Given the description of an element on the screen output the (x, y) to click on. 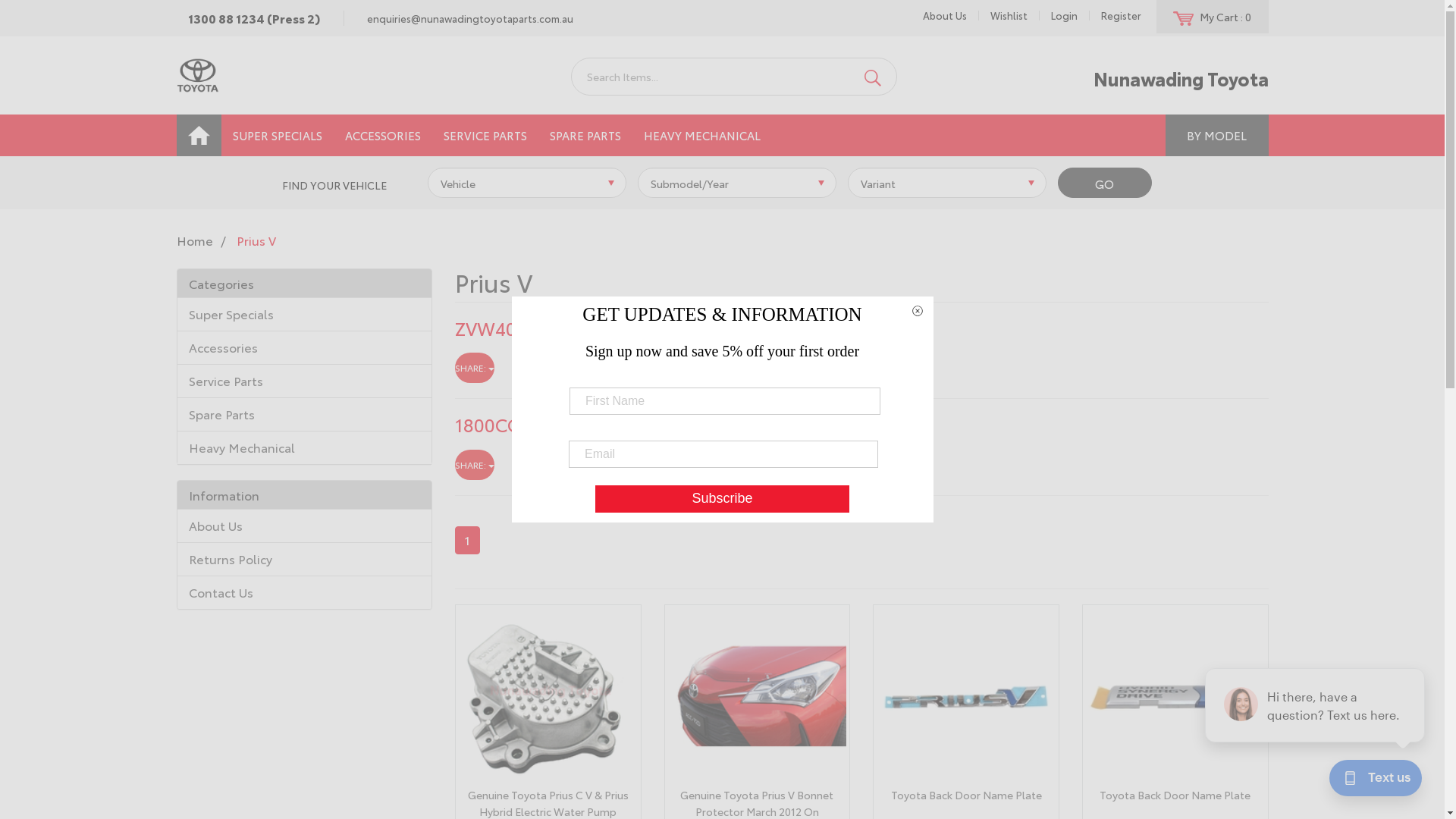
Spare Parts Element type: text (304, 414)
1 Element type: text (467, 540)
Prius V Element type: text (256, 239)
About Us Element type: text (304, 525)
Register Element type: text (1119, 15)
GO Element type: text (1104, 183)
Toyota Back Door Name Plate Element type: text (1174, 794)
SHARE: Element type: text (474, 367)
Toyota Back Door Name Plate Element type: text (966, 794)
Heavy Mechanical Element type: text (304, 447)
Home Element type: text (193, 239)
SUPER SPECIALS Element type: text (277, 135)
Nunawading Toyota Element type: hover (196, 72)
ACCESSORIES Element type: text (382, 135)
SPARE PARTS Element type: text (585, 135)
My Cart : 0 Element type: text (1211, 16)
Returns Policy Element type: text (304, 558)
podium webchat widget prompt Element type: hover (1315, 705)
Service Parts Element type: text (304, 381)
SHARE: Element type: text (474, 464)
HEAVY MECHANICAL Element type: text (701, 135)
ZVW40 2012 On Element type: text (522, 327)
BY MODEL Element type: text (1215, 135)
Wishlist Element type: text (1008, 15)
About Us Element type: text (945, 15)
1300 88 1234 (Press 2) Element type: text (253, 17)
Login Element type: text (1063, 15)
Super Specials Element type: text (304, 314)
enquiries@nunawadingtoyotaparts.com.au Element type: text (468, 17)
Contact Us Element type: text (304, 591)
Search Element type: text (872, 76)
1800CC 16 Valve DOHC EFI Wagon Element type: text (602, 423)
Accessories Element type: text (304, 347)
SERVICE PARTS Element type: text (485, 135)
